Given the description of an element on the screen output the (x, y) to click on. 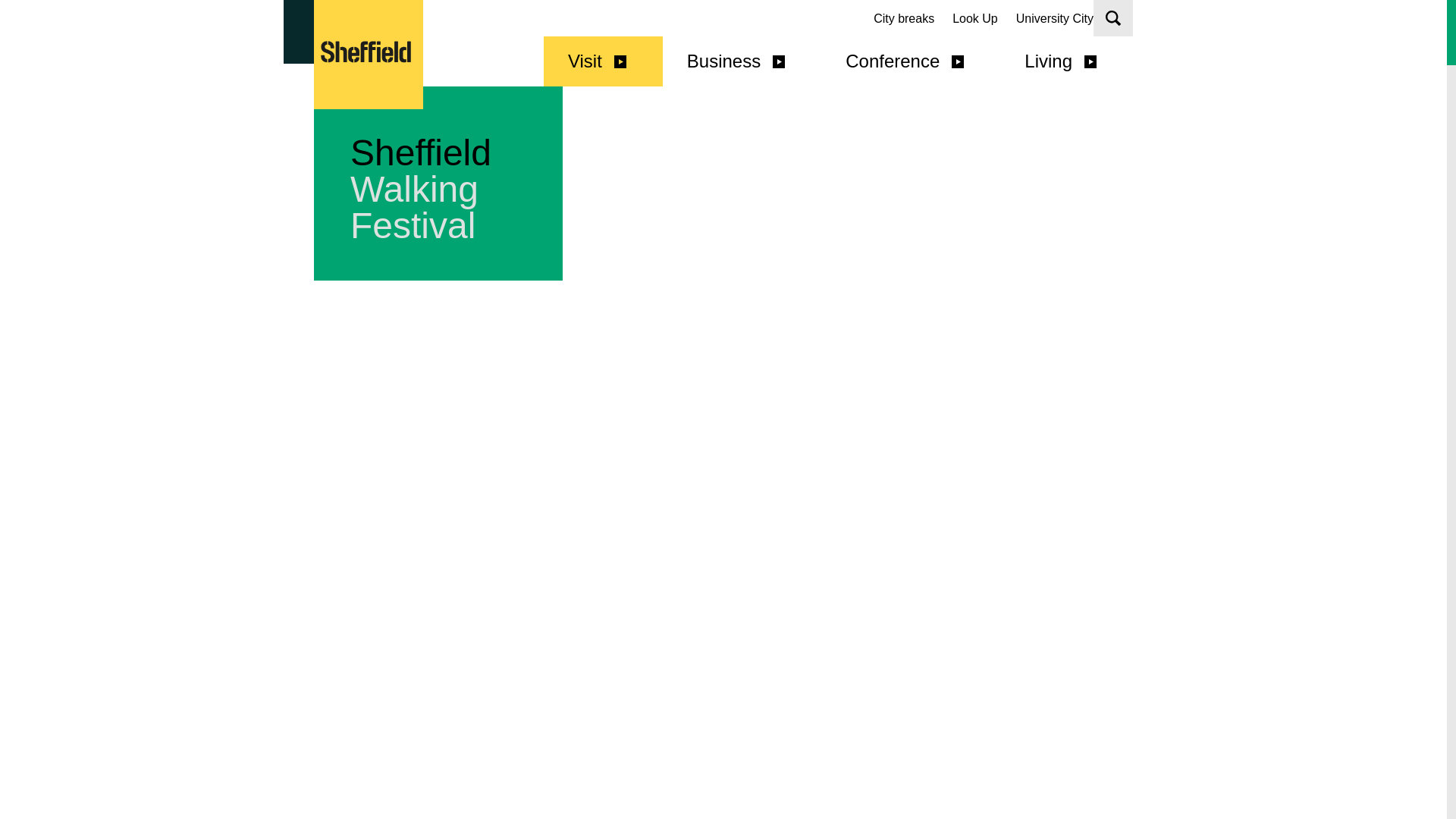
Welcome To Sheffield Logo (368, 54)
